Given the description of an element on the screen output the (x, y) to click on. 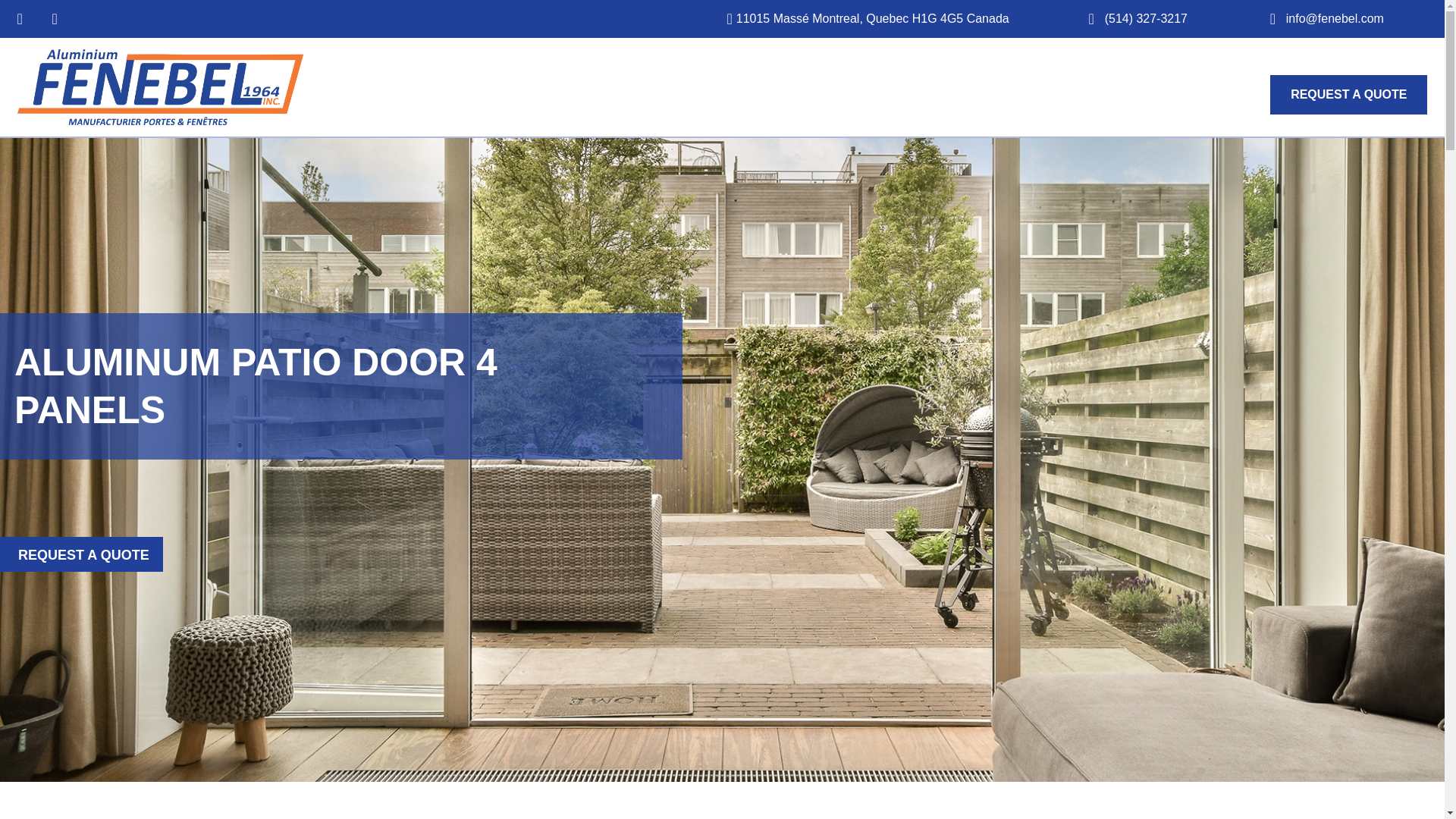
REQUEST A QUOTE (81, 554)
REQUEST A QUOTE (1347, 93)
